Given the description of an element on the screen output the (x, y) to click on. 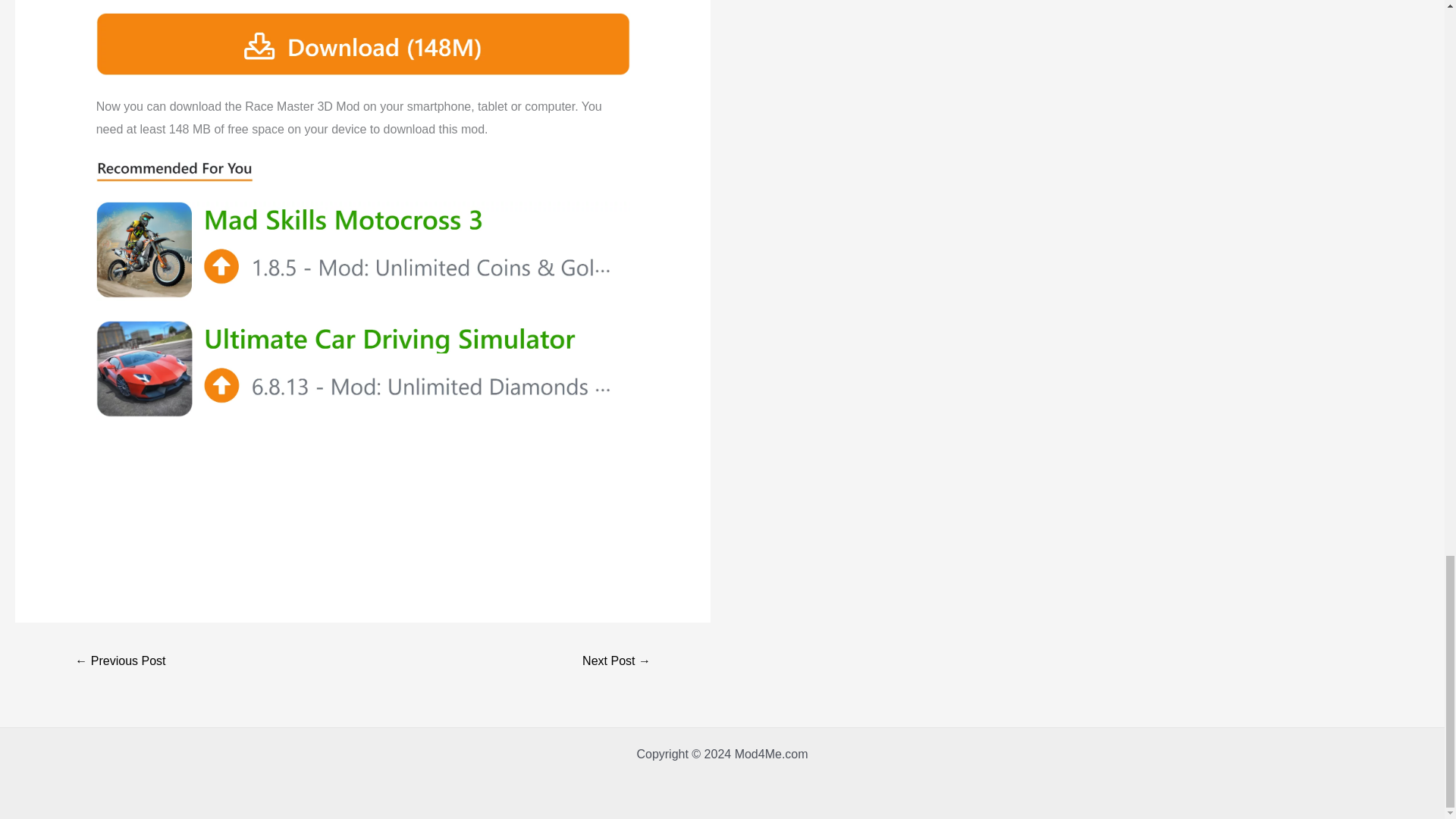
Sonic Dash Mod with Unlimited Gems, Rings and Red Star Rings (616, 662)
